Given the description of an element on the screen output the (x, y) to click on. 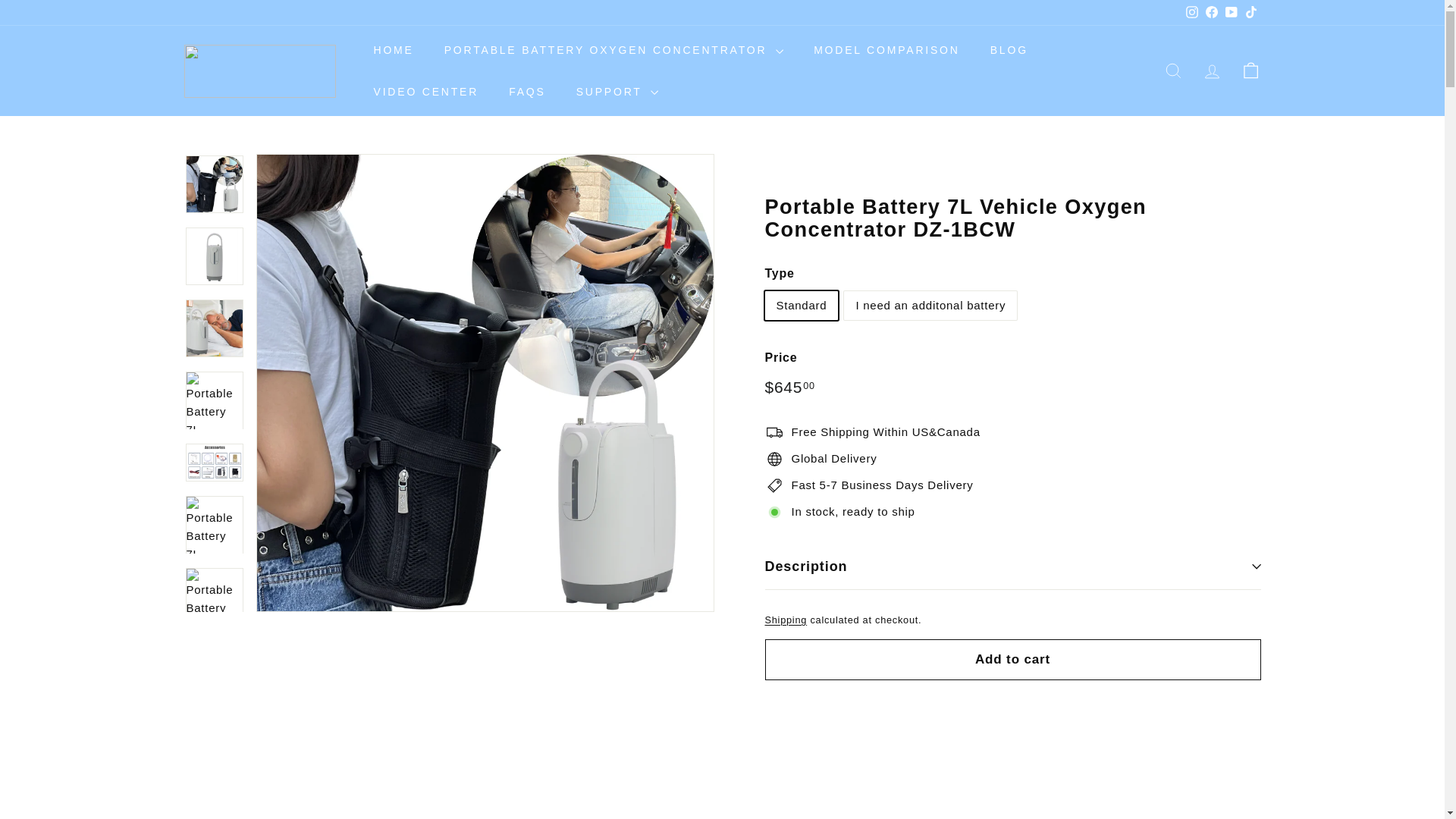
HOME (393, 49)
BLOG (1009, 49)
FAQS (526, 91)
VIDEO CENTER (425, 91)
instagram (1192, 11)
YouTube iframe (721, 807)
MODEL COMPARISON (886, 49)
